Given the description of an element on the screen output the (x, y) to click on. 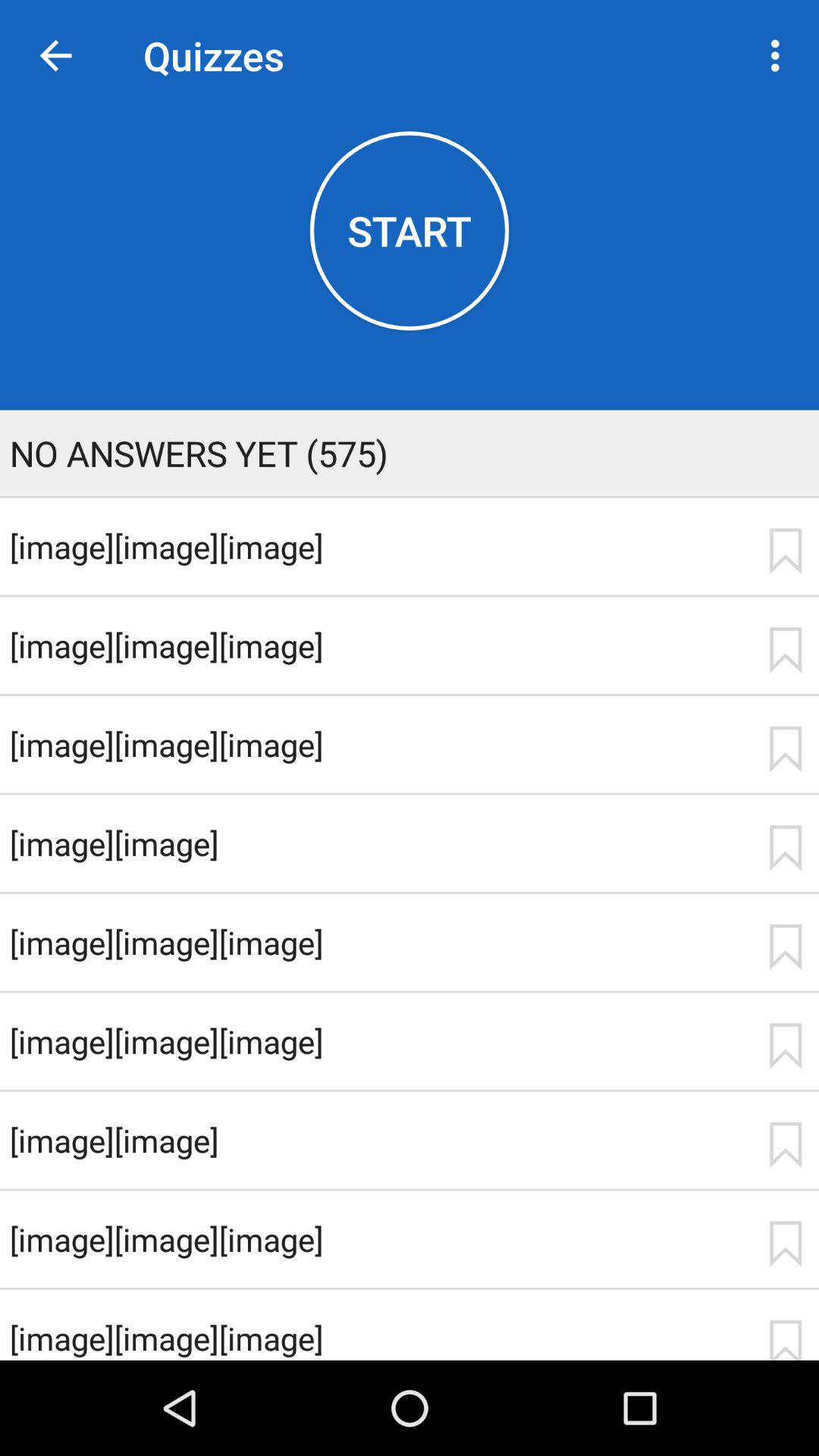
flag image (784, 1145)
